Given the description of an element on the screen output the (x, y) to click on. 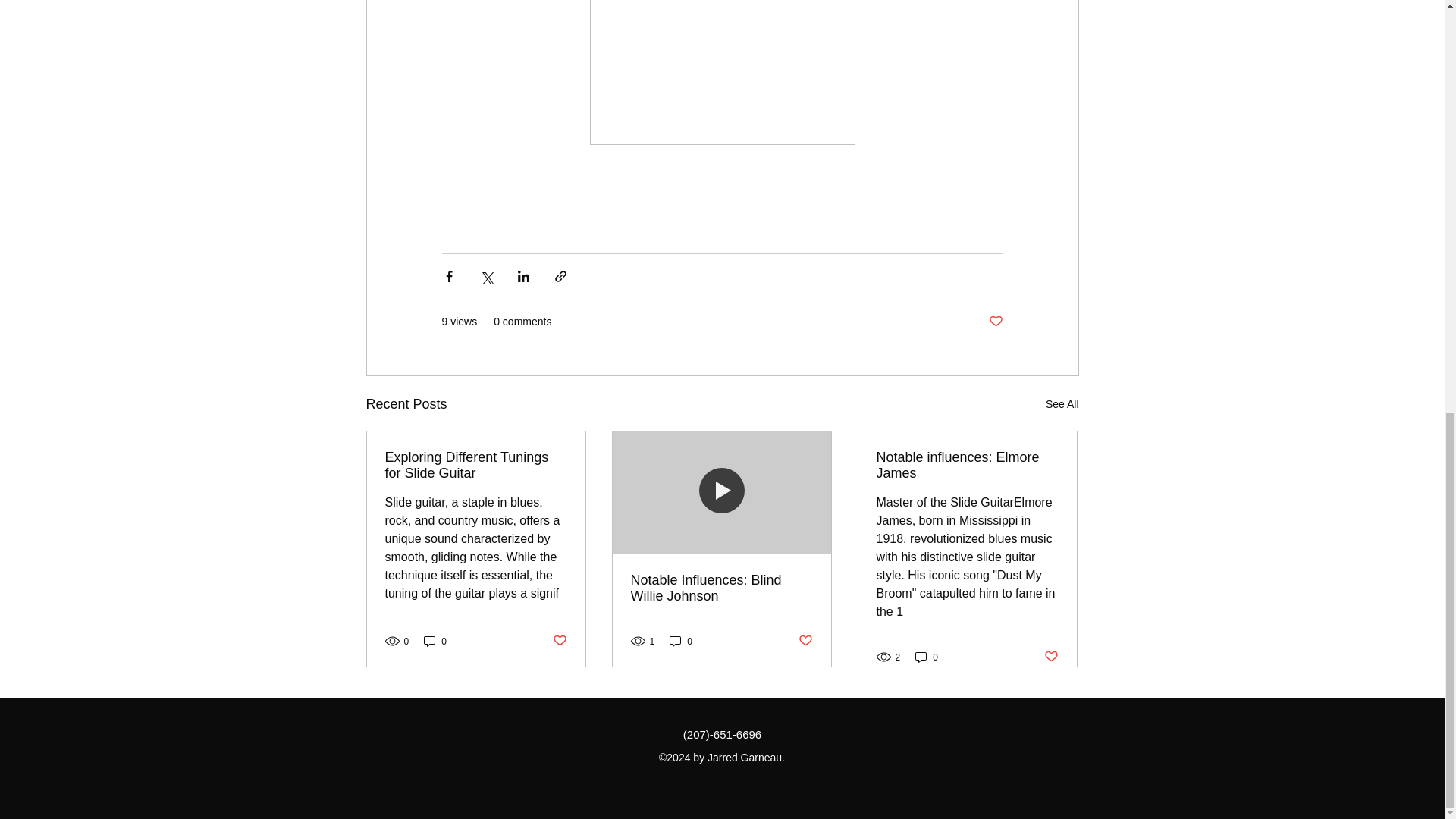
Post not marked as liked (1050, 657)
0 (926, 657)
0 (435, 640)
0 (681, 640)
Post not marked as liked (995, 321)
Exploring Different Tunings for Slide Guitar (476, 465)
Notable influences: Elmore James (967, 465)
Notable Influences: Blind Willie Johnson (721, 588)
Post not marked as liked (558, 641)
See All (1061, 404)
Post not marked as liked (804, 641)
